Given the description of an element on the screen output the (x, y) to click on. 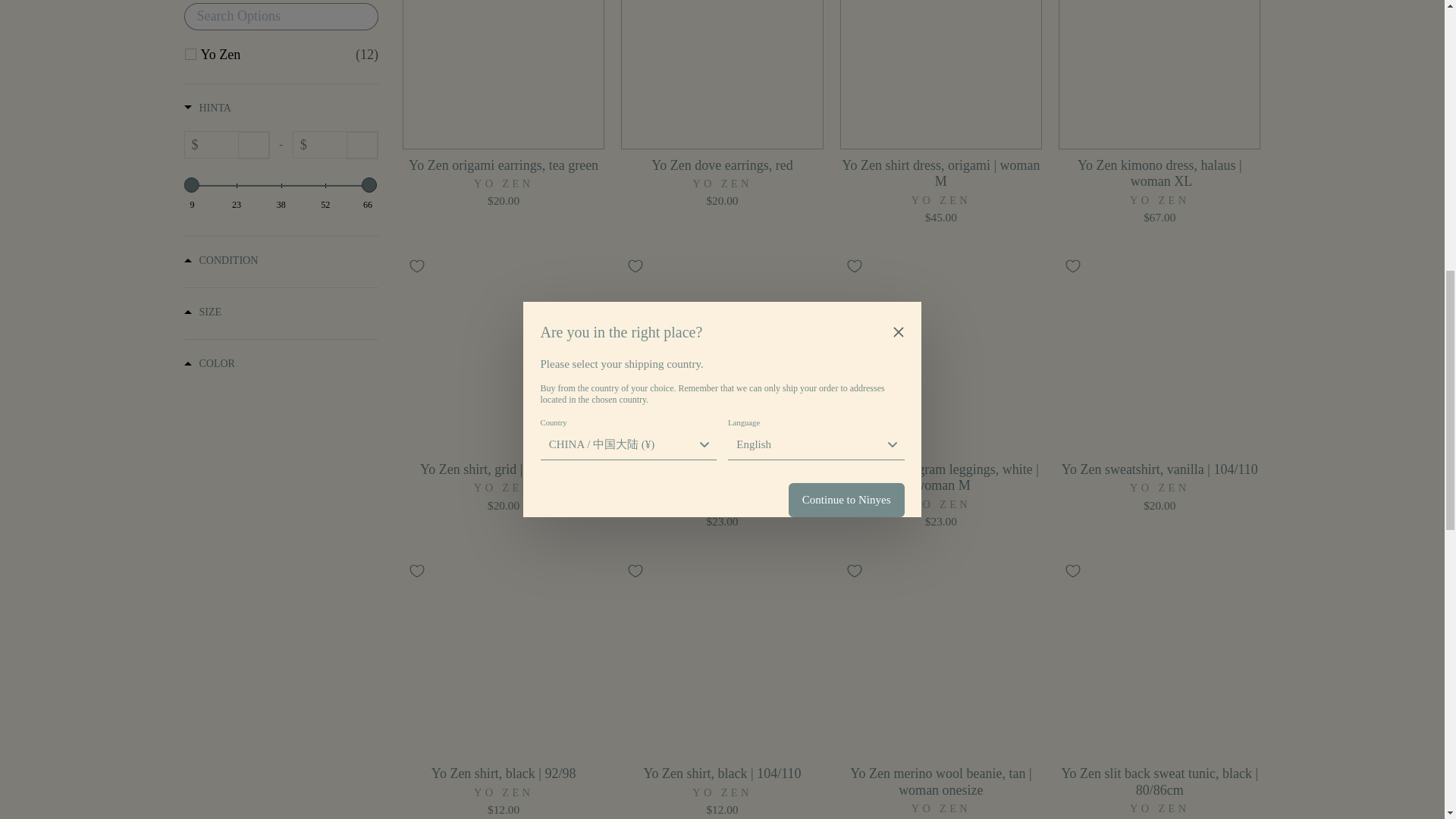
SIZE (280, 313)
CONDITION (280, 261)
COLOR (280, 364)
